Given the description of an element on the screen output the (x, y) to click on. 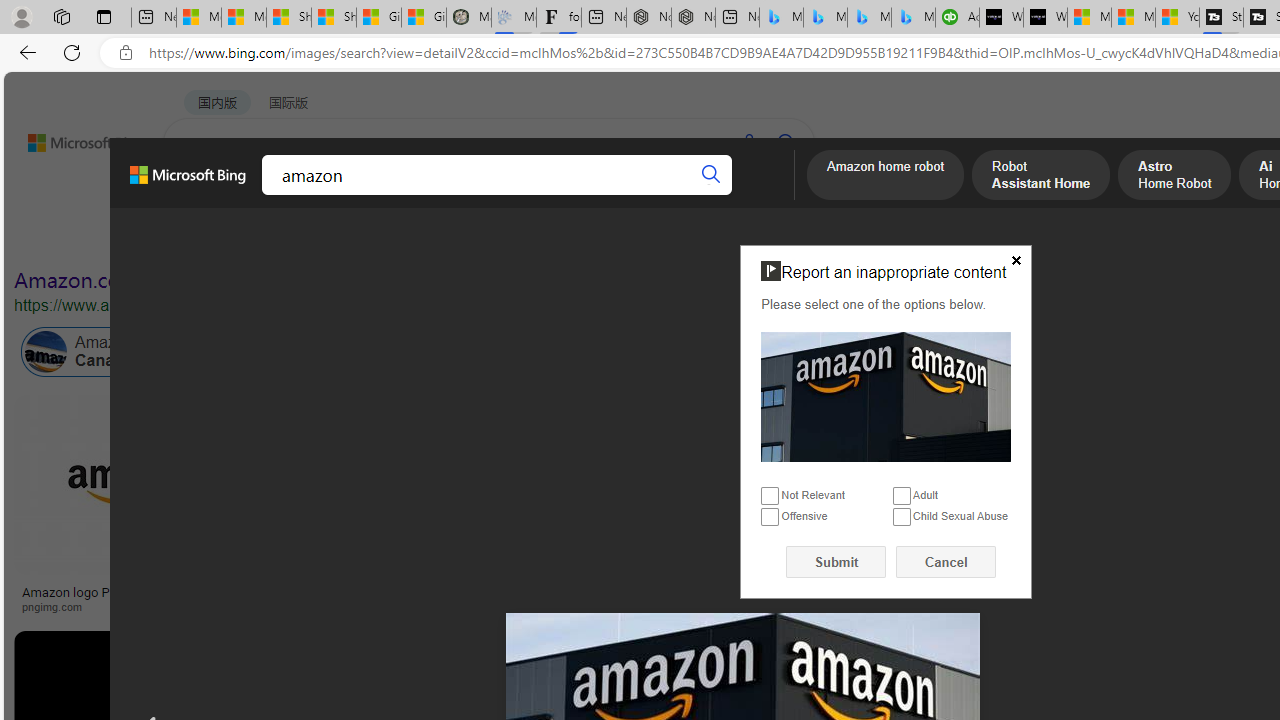
Listen: What's next for Amazon? (639, 592)
Amazon India (850, 351)
License (664, 237)
Class: b_pri_nav_svg (336, 196)
ACADEMIC (548, 195)
DICT (630, 195)
Amazon Labor Law Violation in California (993, 351)
Amazon Canada Online (45, 351)
VIDEOS (458, 195)
Robot Assistant Home (1041, 177)
Type (372, 237)
Microsoft Start Sports (1089, 17)
Class: item col (893, 351)
